Given the description of an element on the screen output the (x, y) to click on. 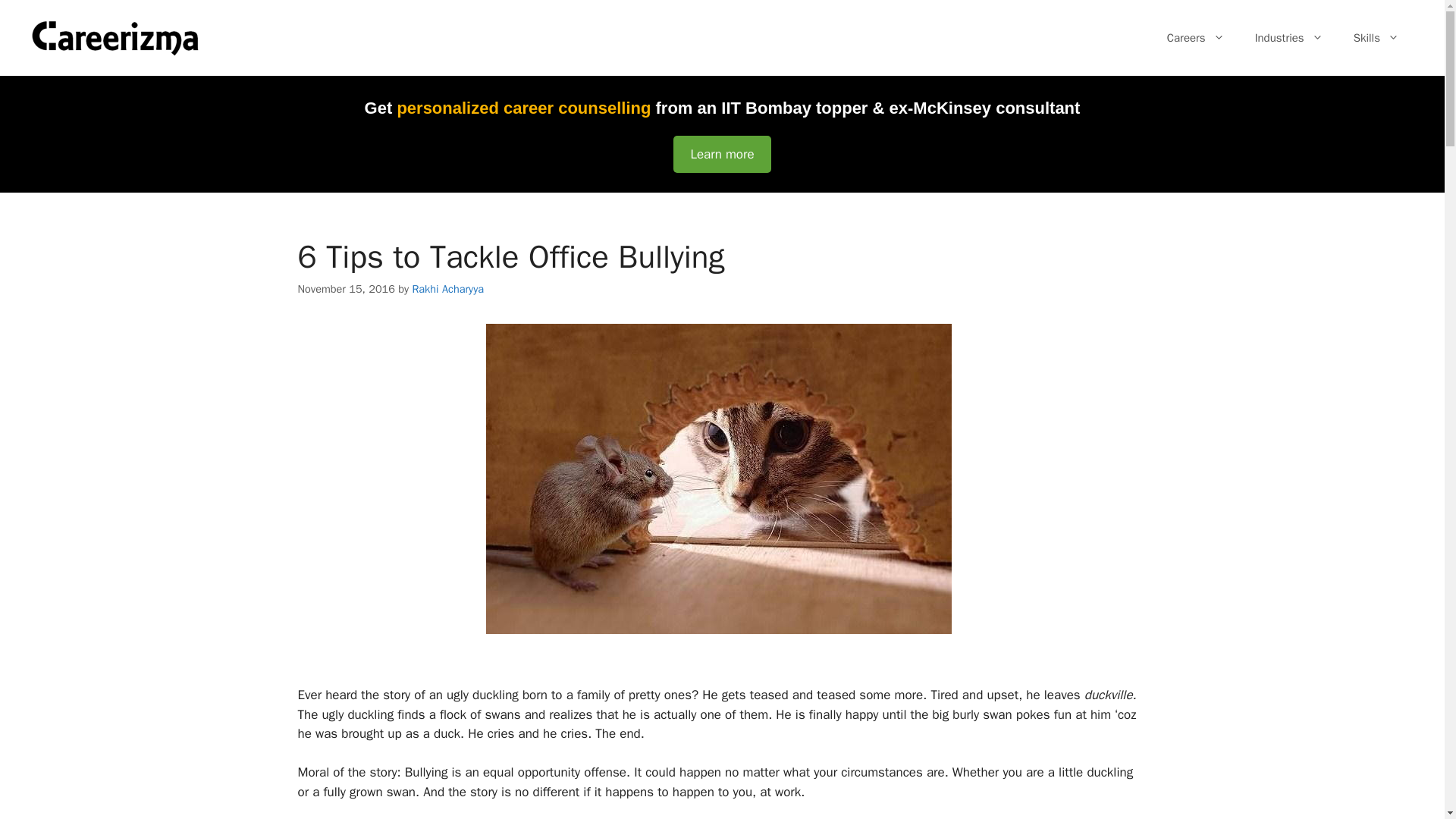
Skills (1375, 37)
Careers (1195, 37)
View all posts by Rakhi Acharyya (447, 288)
Industries (1289, 37)
